Given the description of an element on the screen output the (x, y) to click on. 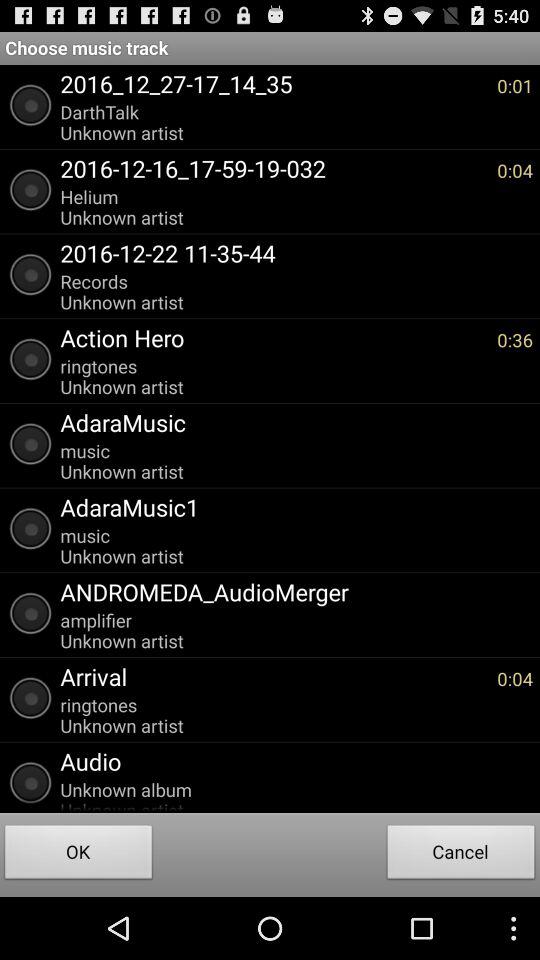
scroll until action hero icon (273, 337)
